Given the description of an element on the screen output the (x, y) to click on. 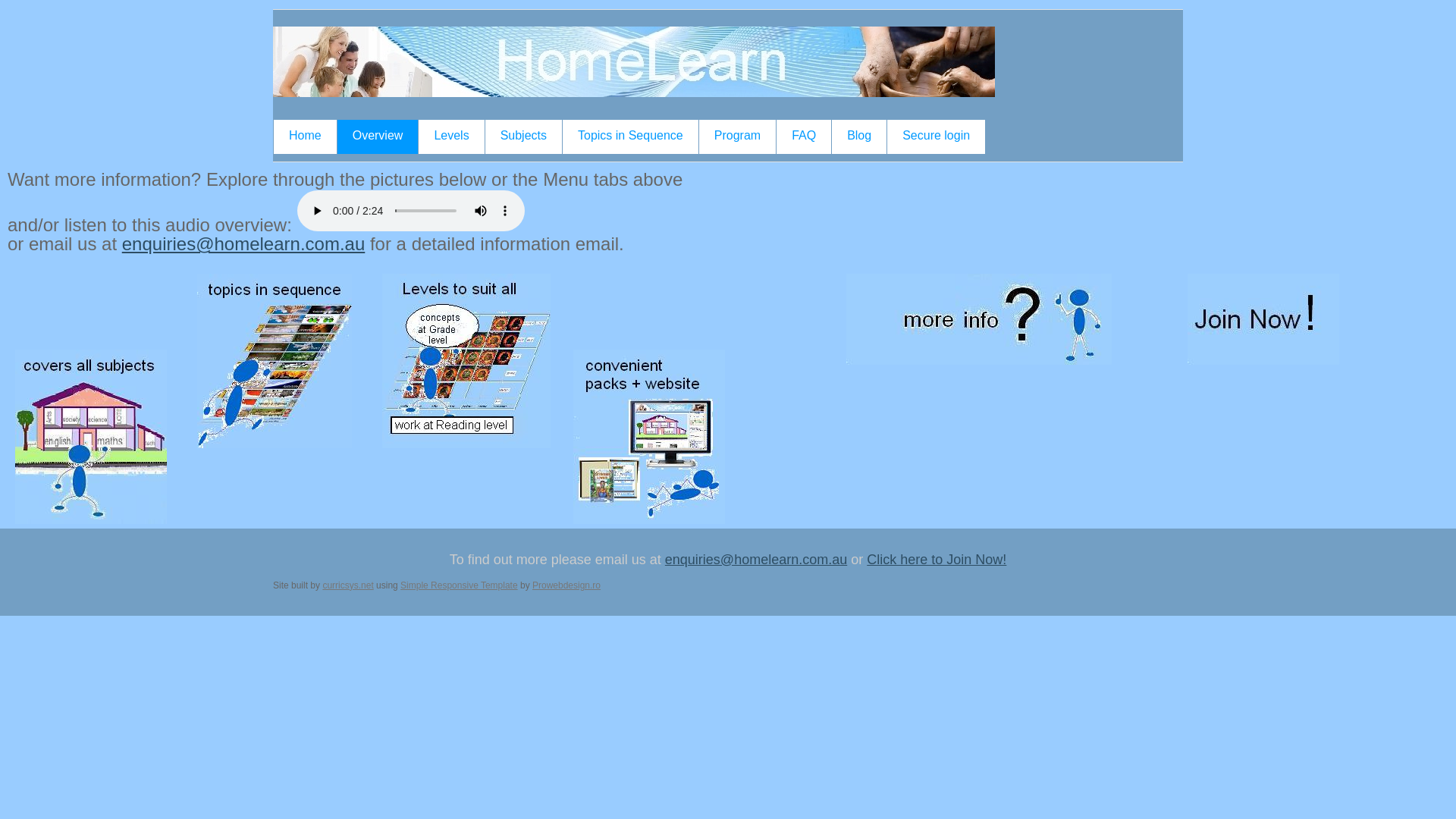
Subjects Element type: text (523, 136)
Click here for FAQs Element type: hover (978, 318)
Click here to Join Now! Element type: text (936, 559)
Topics in Sequence Element type: text (630, 136)
Secure login Element type: text (936, 136)
Simple Responsive Template Element type: text (458, 585)
Overview Element type: text (377, 136)
Blog Element type: text (858, 136)
enquiries@homelearn.com.au Element type: text (243, 243)
FAQ Element type: text (803, 136)
Click here to Join up Element type: hover (1263, 318)
enquiries@homelearn.com.au Element type: text (756, 559)
Program Element type: text (737, 136)
Levels are available that suit all reading and grade levels Element type: hover (466, 360)
Home Element type: text (304, 136)
The HomeLearn program covers all subject areas Element type: hover (90, 436)
curricsys.net Element type: text (347, 585)
Prowebdesign.ro Element type: text (566, 585)
Levels Element type: text (450, 136)
